Given the description of an element on the screen output the (x, y) to click on. 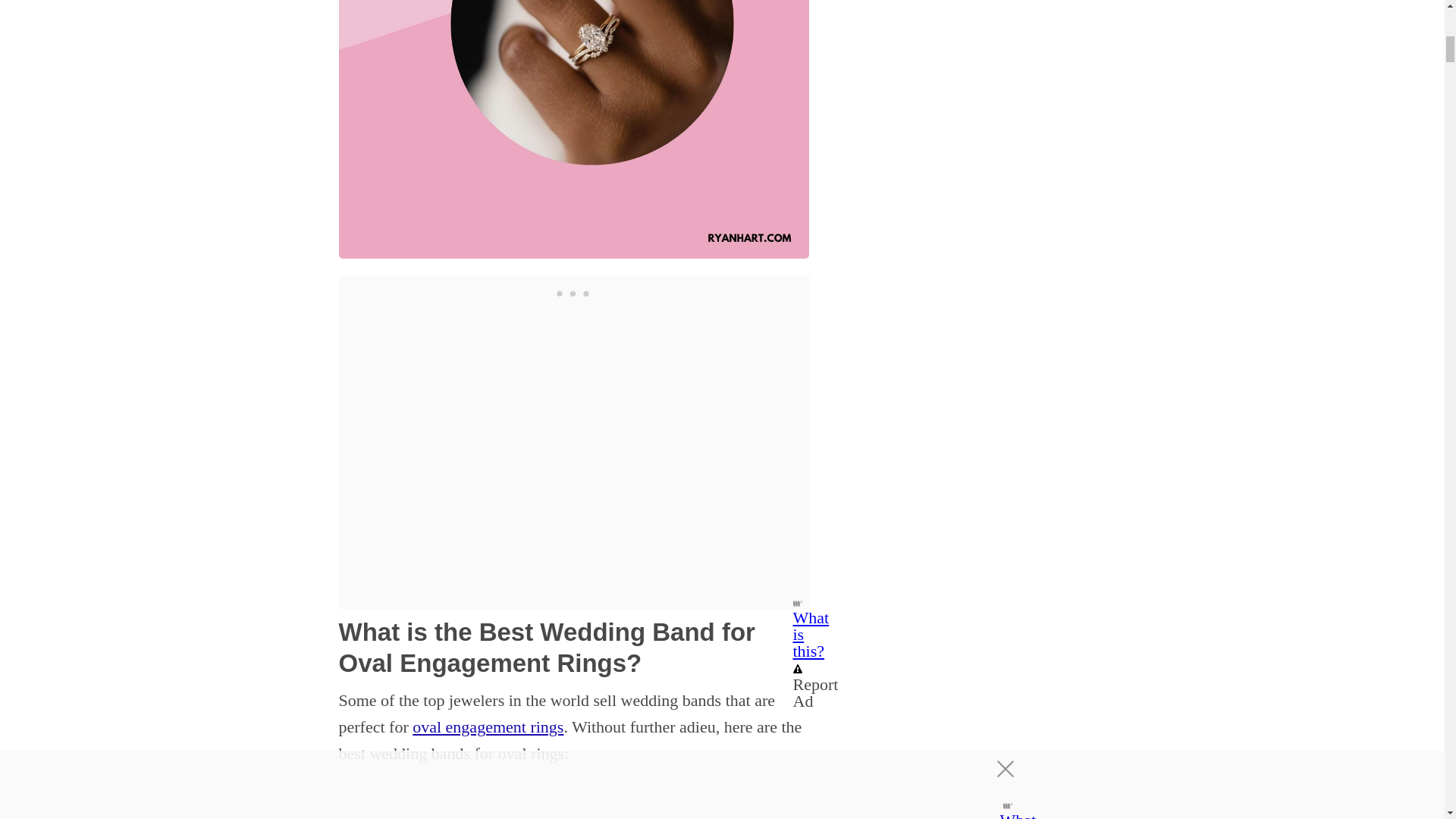
oval engagement rings (487, 726)
Wedding bands for oval rings (572, 129)
3rd party ad content (572, 293)
